Given the description of an element on the screen output the (x, y) to click on. 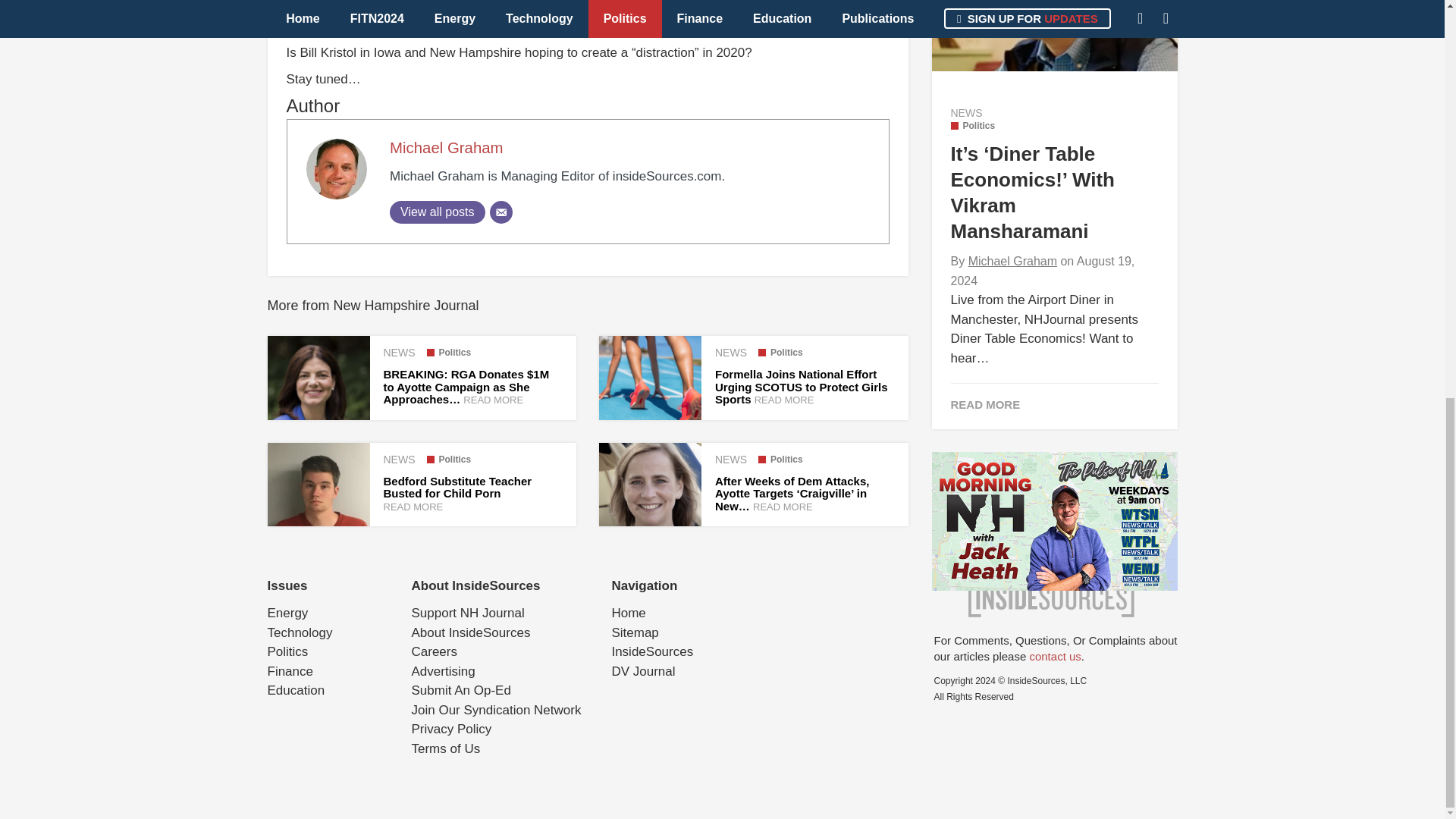
View all posts in Politics (780, 459)
Politics (448, 352)
View all posts (437, 211)
View all posts in Politics (448, 459)
Michael Graham (446, 147)
View all posts (437, 211)
View all posts in Politics (780, 352)
Politics (780, 459)
Politics (780, 352)
Bedford Substitute Teacher Busted for Child Porn READ MORE (458, 493)
